Given the description of an element on the screen output the (x, y) to click on. 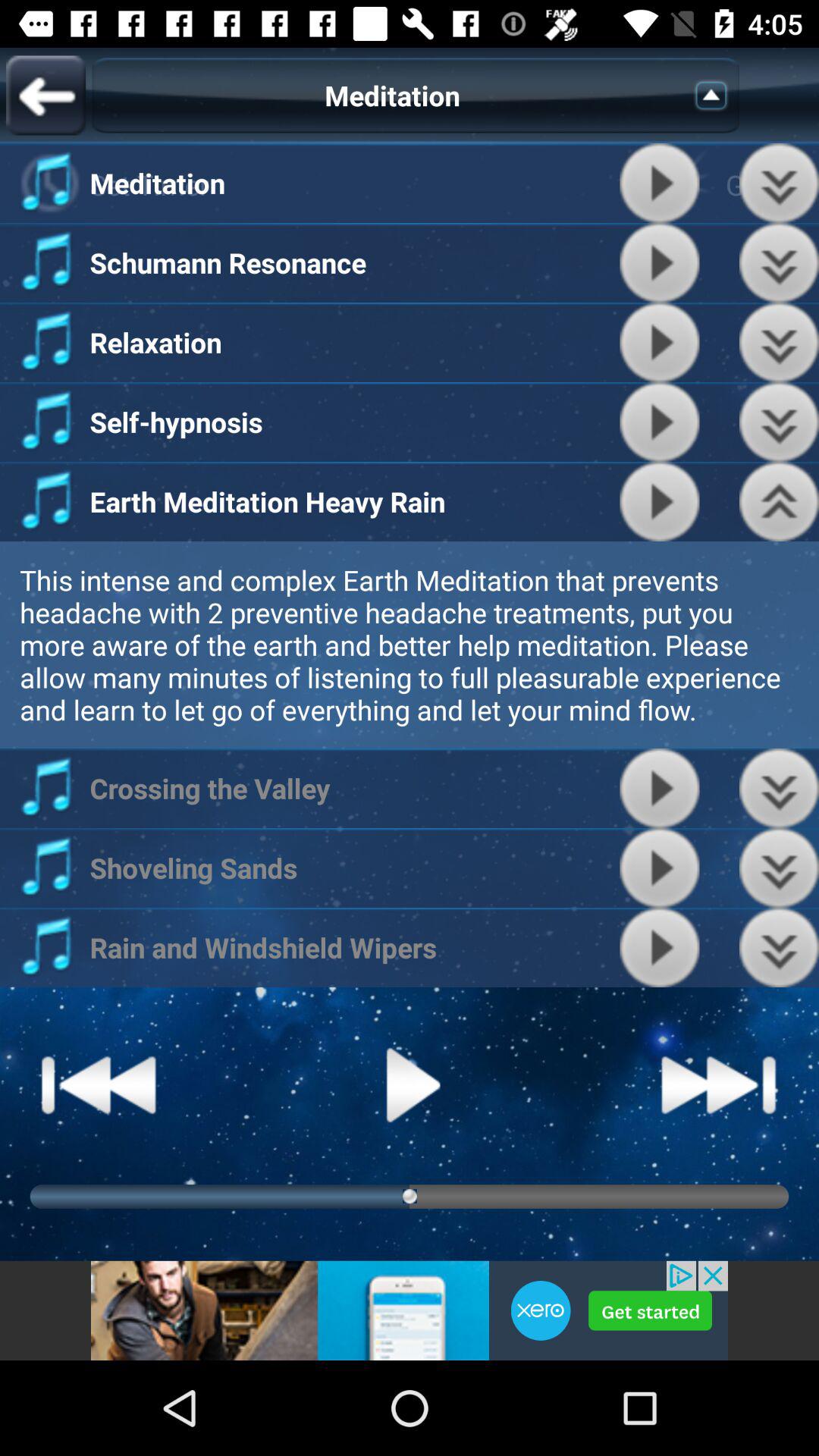
go to more songs (779, 867)
